Given the description of an element on the screen output the (x, y) to click on. 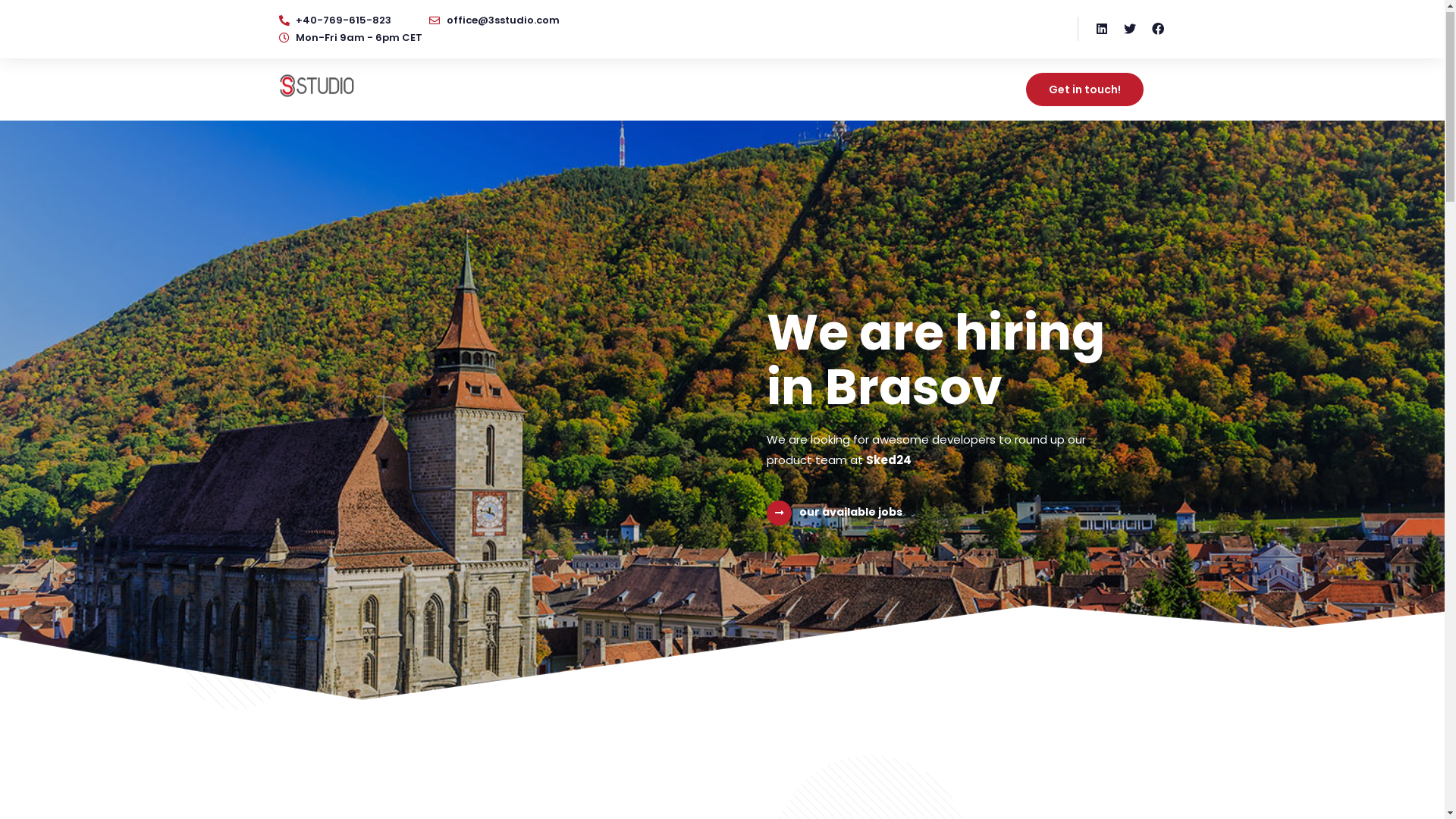
office@3sstudio.com Element type: text (494, 24)
Get in touch! Element type: text (1083, 93)
+40-769-615-823 Element type: text (335, 24)
our available jobs Element type: text (850, 516)
